Given the description of an element on the screen output the (x, y) to click on. 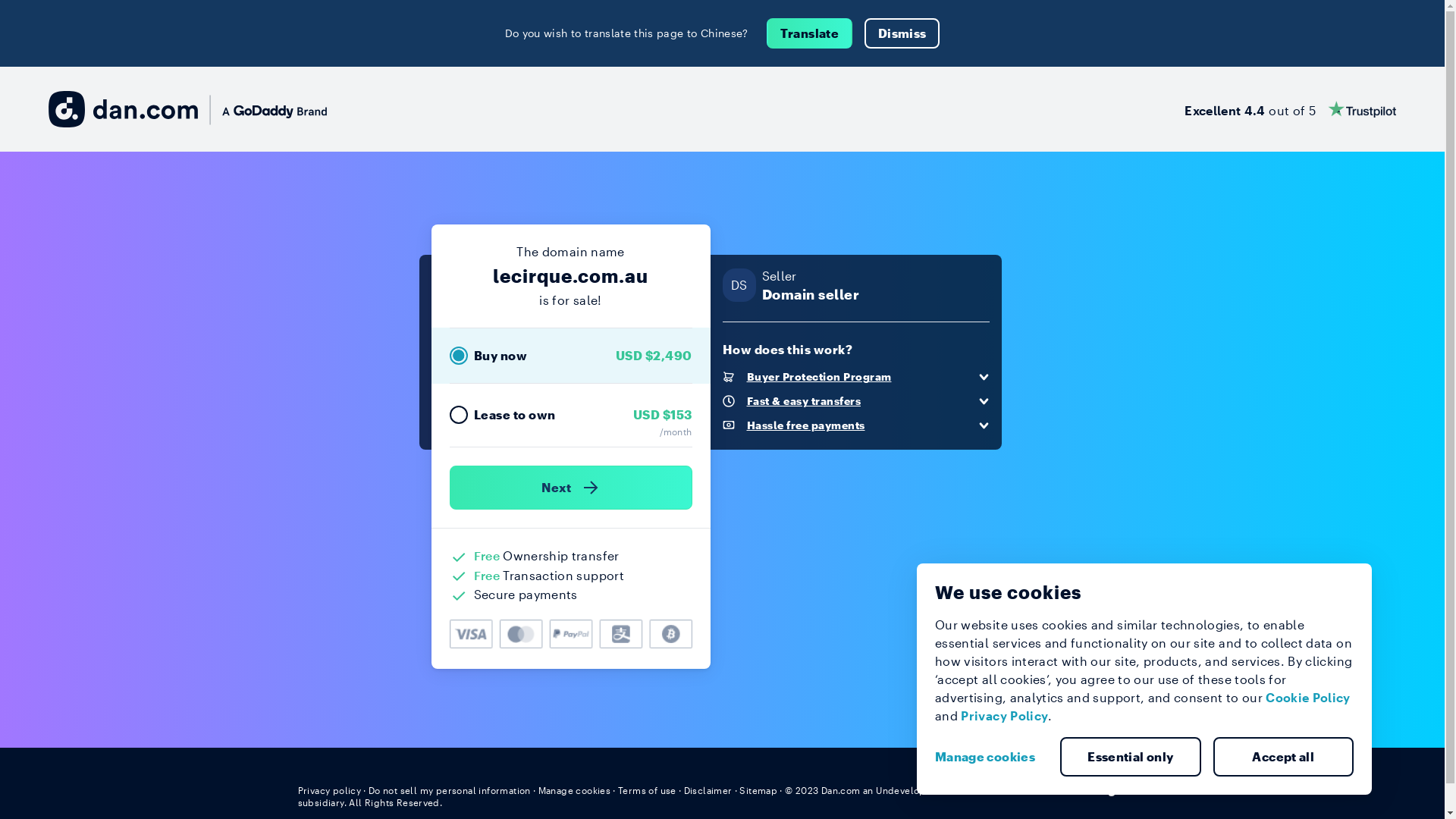
Cookie Policy Element type: text (1307, 697)
Dismiss Element type: text (901, 33)
Do not sell my personal information Element type: text (449, 789)
Manage cookies Element type: text (574, 790)
Privacy policy Element type: text (328, 789)
Sitemap Element type: text (758, 789)
Privacy Policy Element type: text (1004, 715)
Terms of use Element type: text (647, 789)
Next
) Element type: text (569, 487)
Accept all Element type: text (1283, 756)
Essential only Element type: text (1130, 756)
Disclaimer Element type: text (708, 789)
English Element type: text (1119, 789)
Excellent 4.4 out of 5 Element type: text (1290, 109)
Manage cookies Element type: text (991, 756)
Translate Element type: text (809, 33)
